Given the description of an element on the screen output the (x, y) to click on. 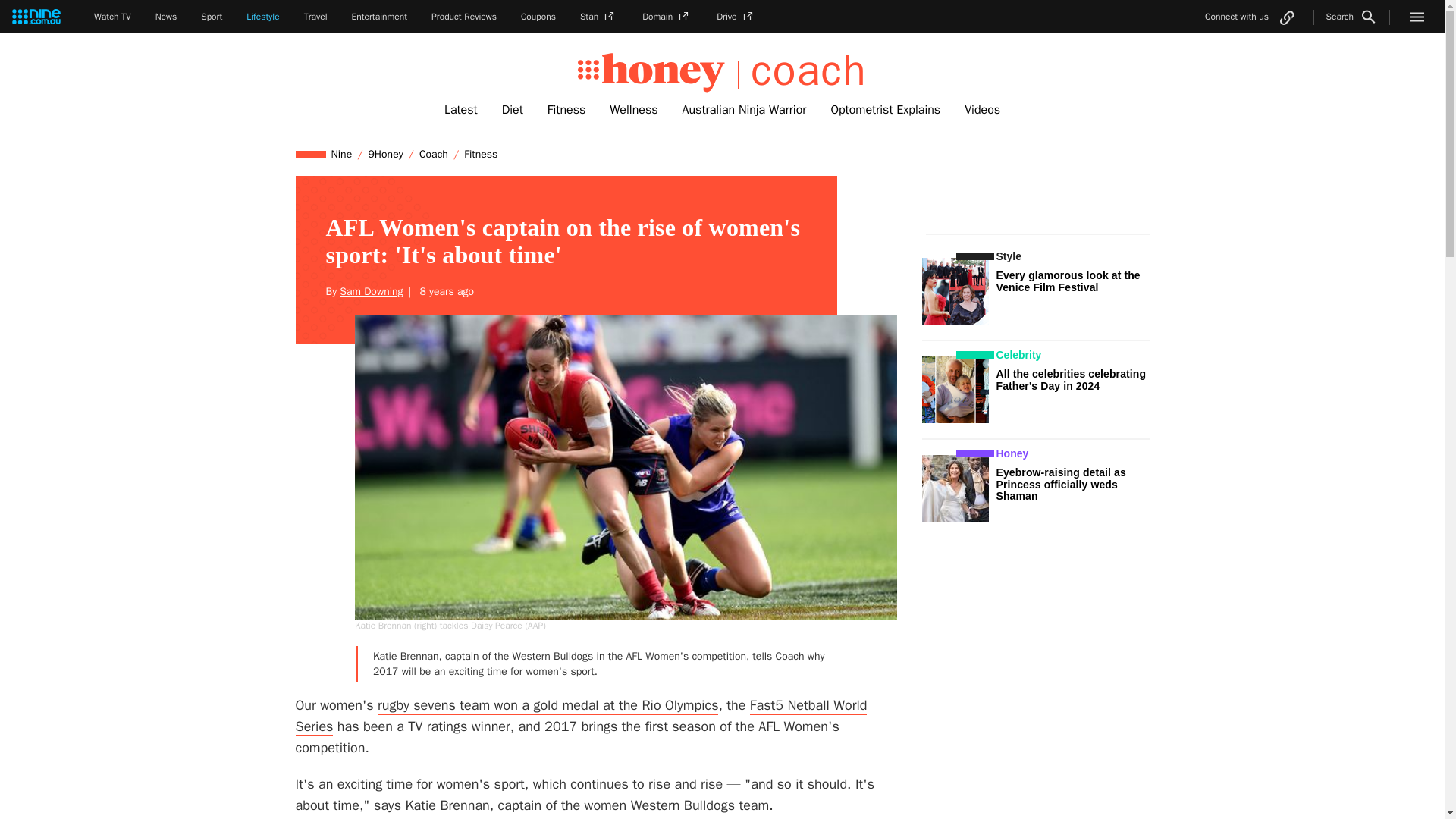
Watch TV (112, 16)
Entertainment (379, 16)
Domain (667, 16)
Videos (981, 109)
Fitness (565, 109)
9Honey (384, 154)
Diet (512, 109)
rugby sevens team won a gold medal at the Rio Olympics (547, 705)
Latest (460, 109)
2016-11-04 05:30 (443, 291)
